Given the description of an element on the screen output the (x, y) to click on. 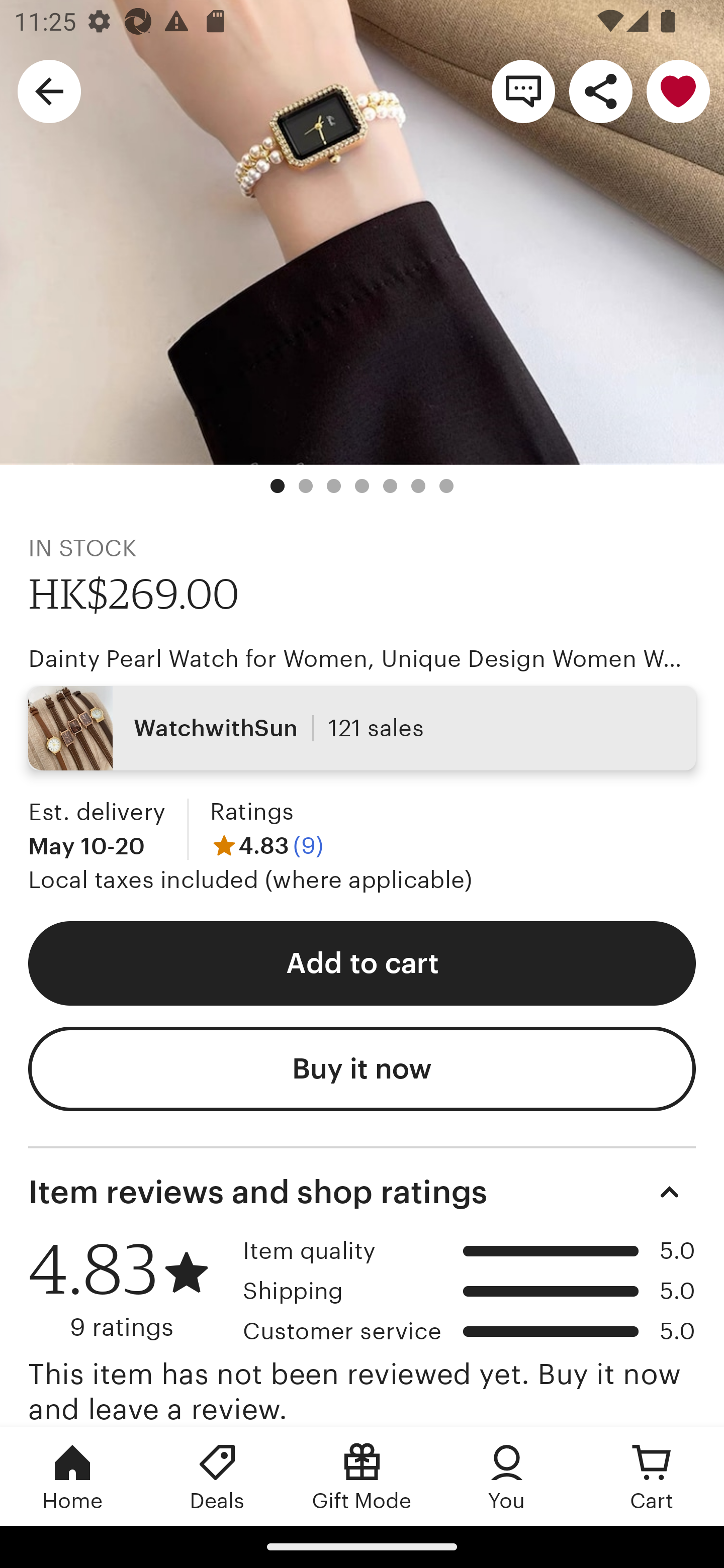
Navigate up (49, 90)
Contact shop (523, 90)
Share (600, 90)
WatchwithSun 121 sales (361, 727)
Ratings (251, 811)
4.83 (9) (266, 845)
Add to cart (361, 963)
Buy it now (361, 1069)
Item reviews and shop ratings (362, 1191)
4.83 9 ratings (128, 1288)
Deals (216, 1475)
Gift Mode (361, 1475)
You (506, 1475)
Cart (651, 1475)
